Given the description of an element on the screen output the (x, y) to click on. 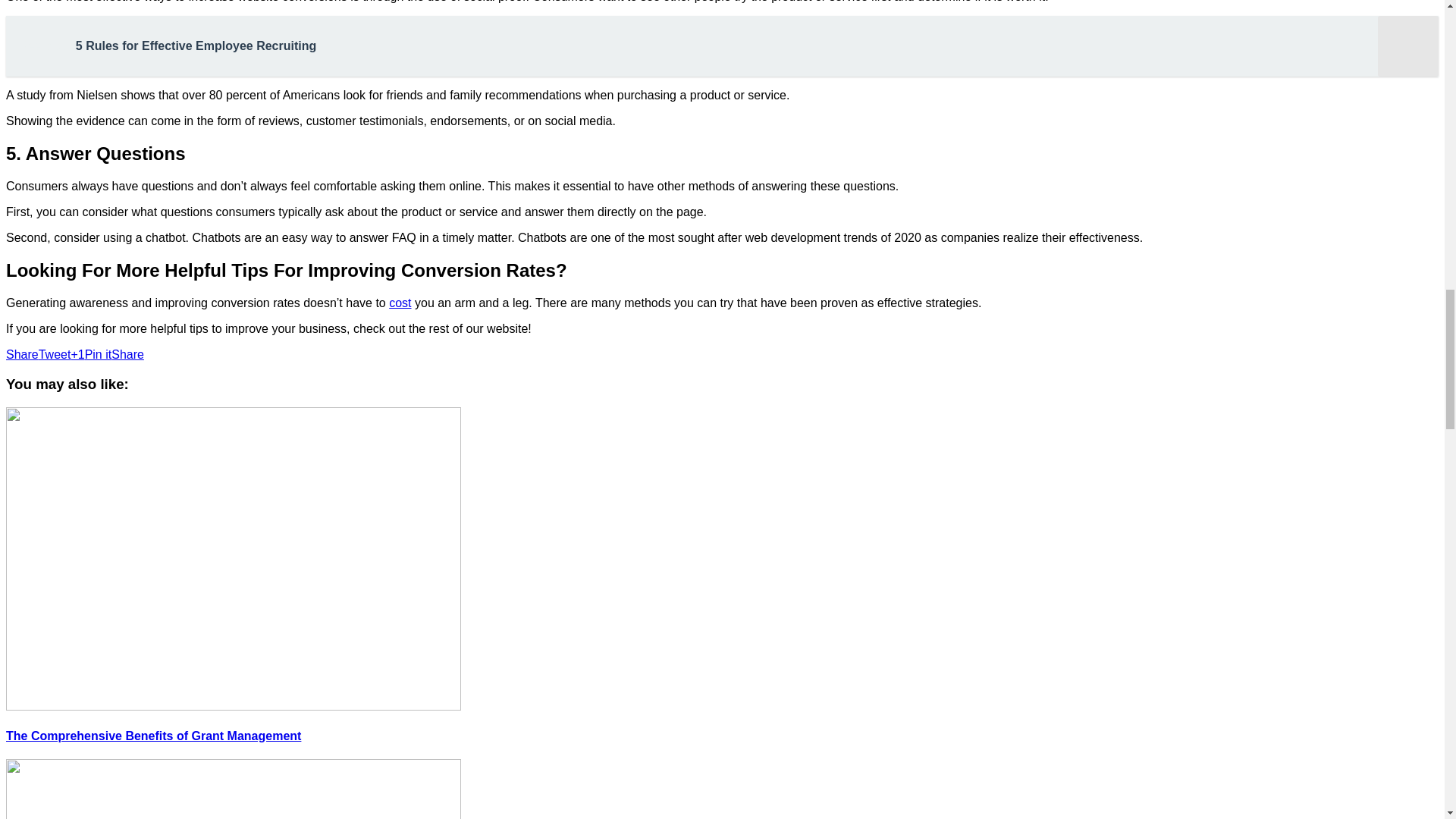
Share on LinkedIn (128, 354)
Share on Twitter (55, 354)
Share on Pinterest (98, 354)
Share on Facebook (22, 354)
